Given the description of an element on the screen output the (x, y) to click on. 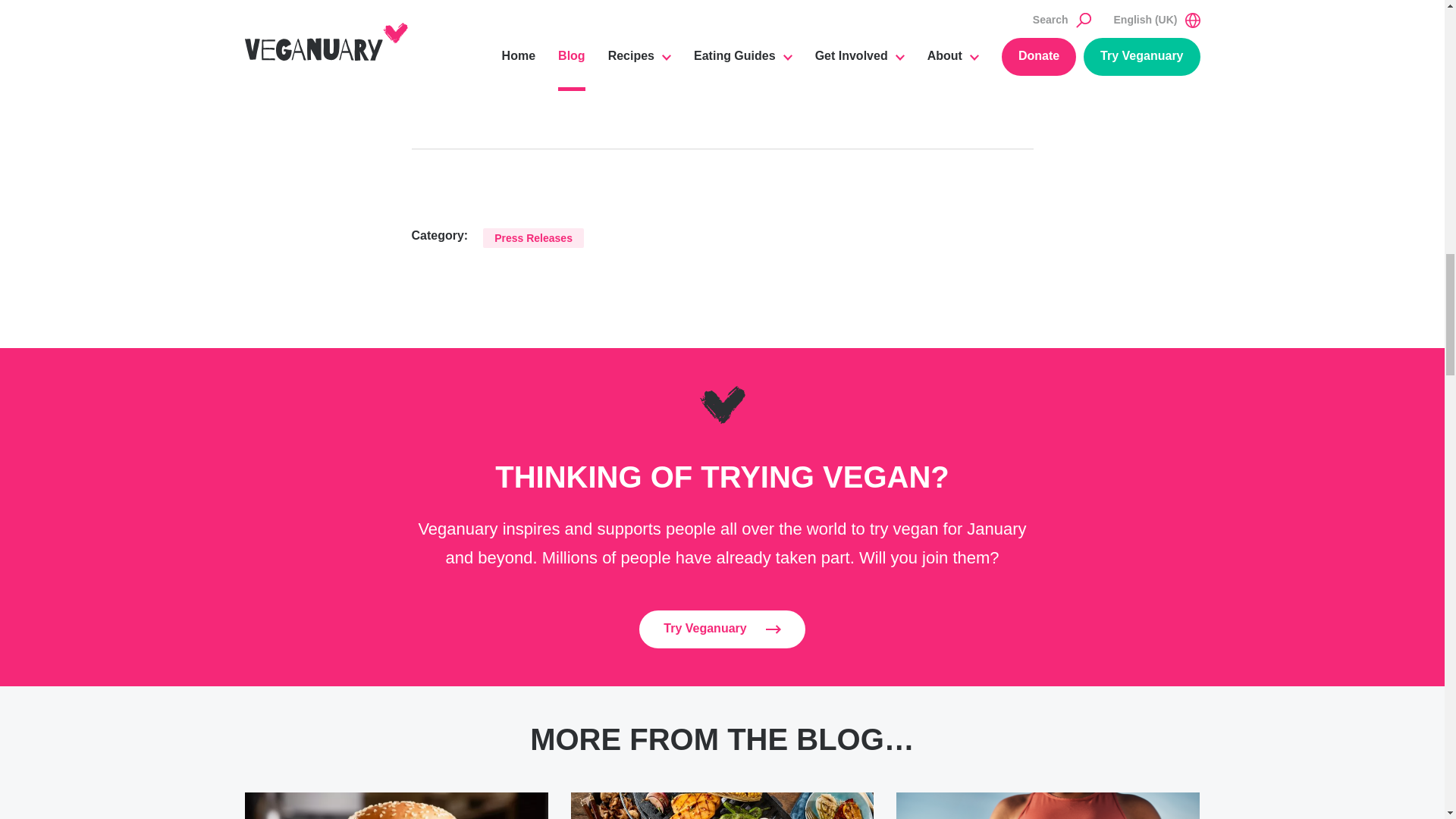
Try Veganuary (722, 629)
